Given the description of an element on the screen output the (x, y) to click on. 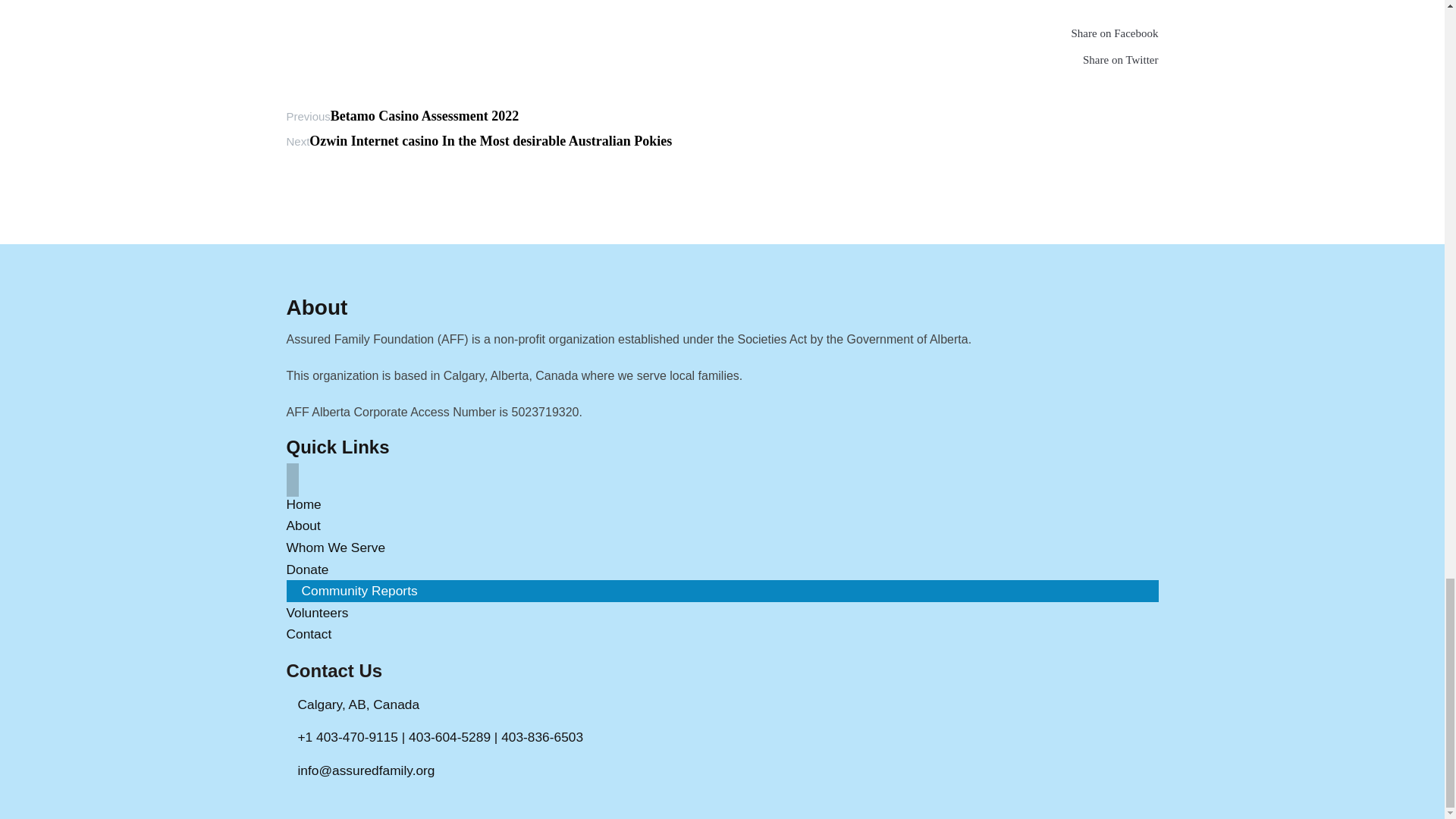
Contact (308, 633)
Share on Facebook (722, 35)
About (303, 525)
Volunteers (317, 612)
Whom We Serve (335, 547)
Home (303, 503)
PreviousBetamo Casino Assessment 2022 (402, 115)
Community Reports (359, 590)
fab fa-facebook-square (722, 35)
